Given the description of an element on the screen output the (x, y) to click on. 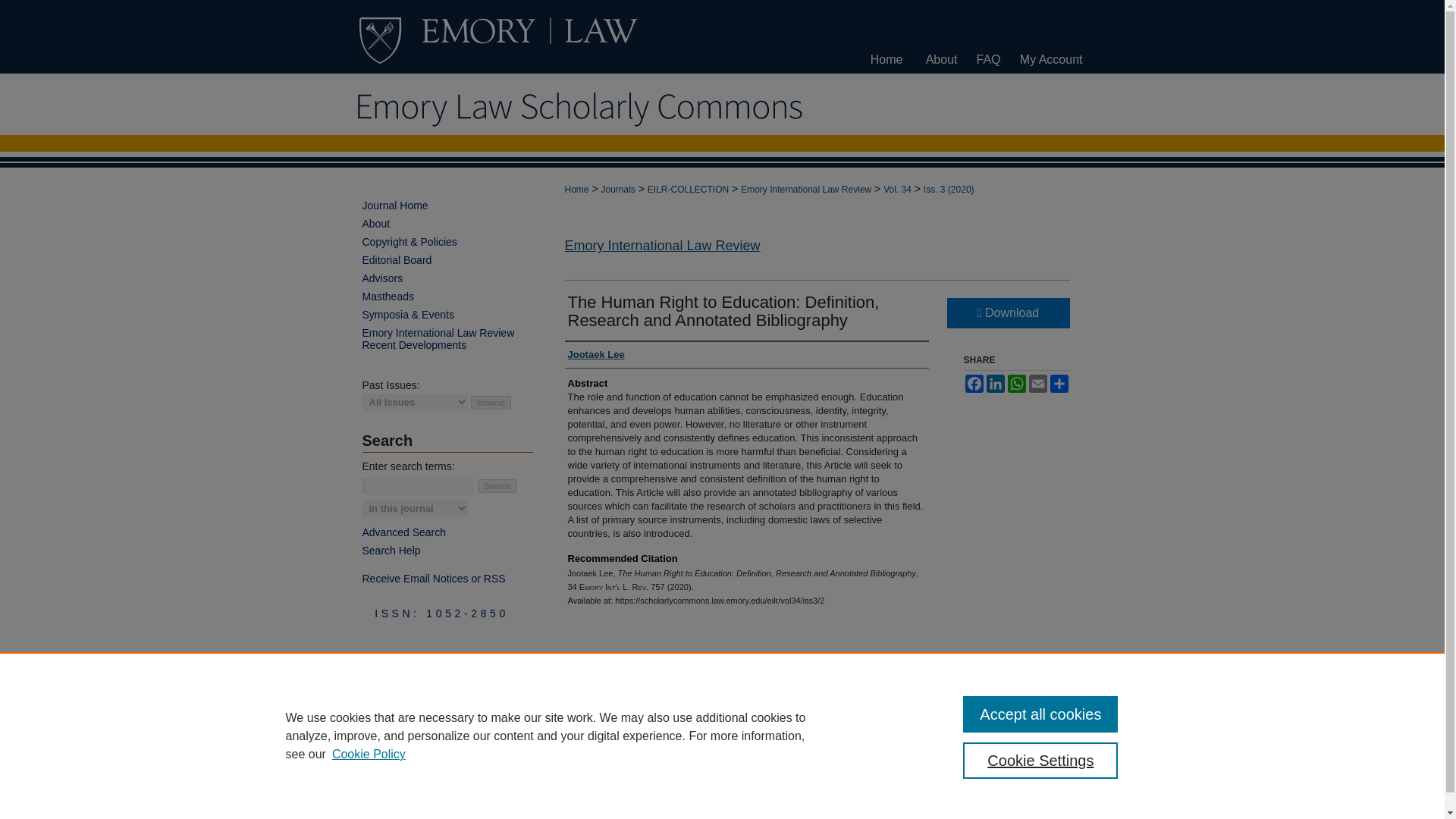
Emory International Law Review (662, 245)
Emory International Law Review (805, 189)
WhatsApp (1016, 383)
Jootaek Lee (595, 354)
Browse (490, 402)
Search (496, 486)
Emory International Law Review Recent Developments (447, 338)
Emory International Law Review (662, 245)
Share (1058, 383)
Advisors (447, 277)
Home (576, 189)
About (447, 223)
Emory International Law Review Recent Developments (447, 338)
Search (496, 486)
